Given the description of an element on the screen output the (x, y) to click on. 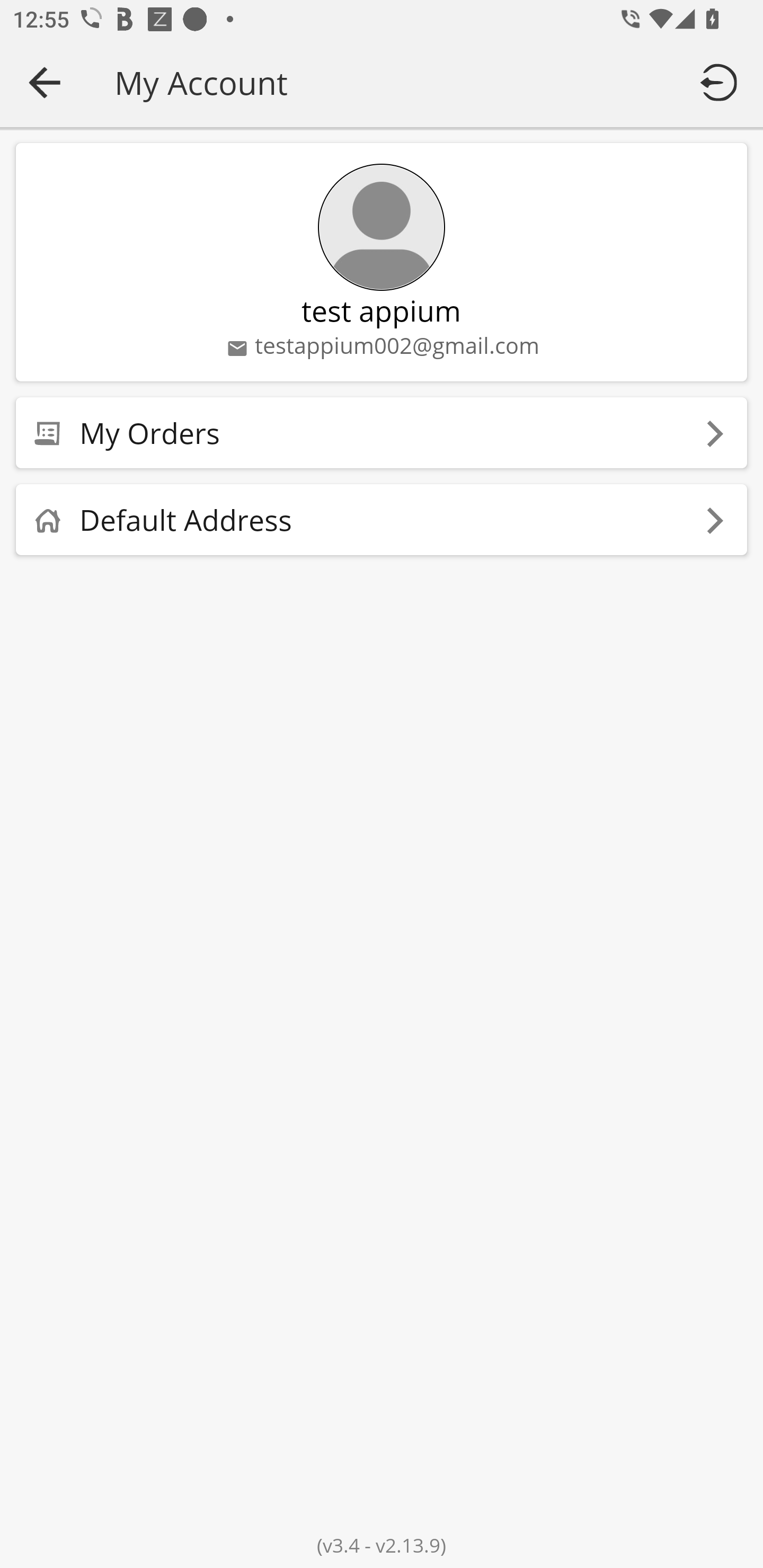
Navigate up (44, 82)
LOGOUT (721, 81)
